Given the description of an element on the screen output the (x, y) to click on. 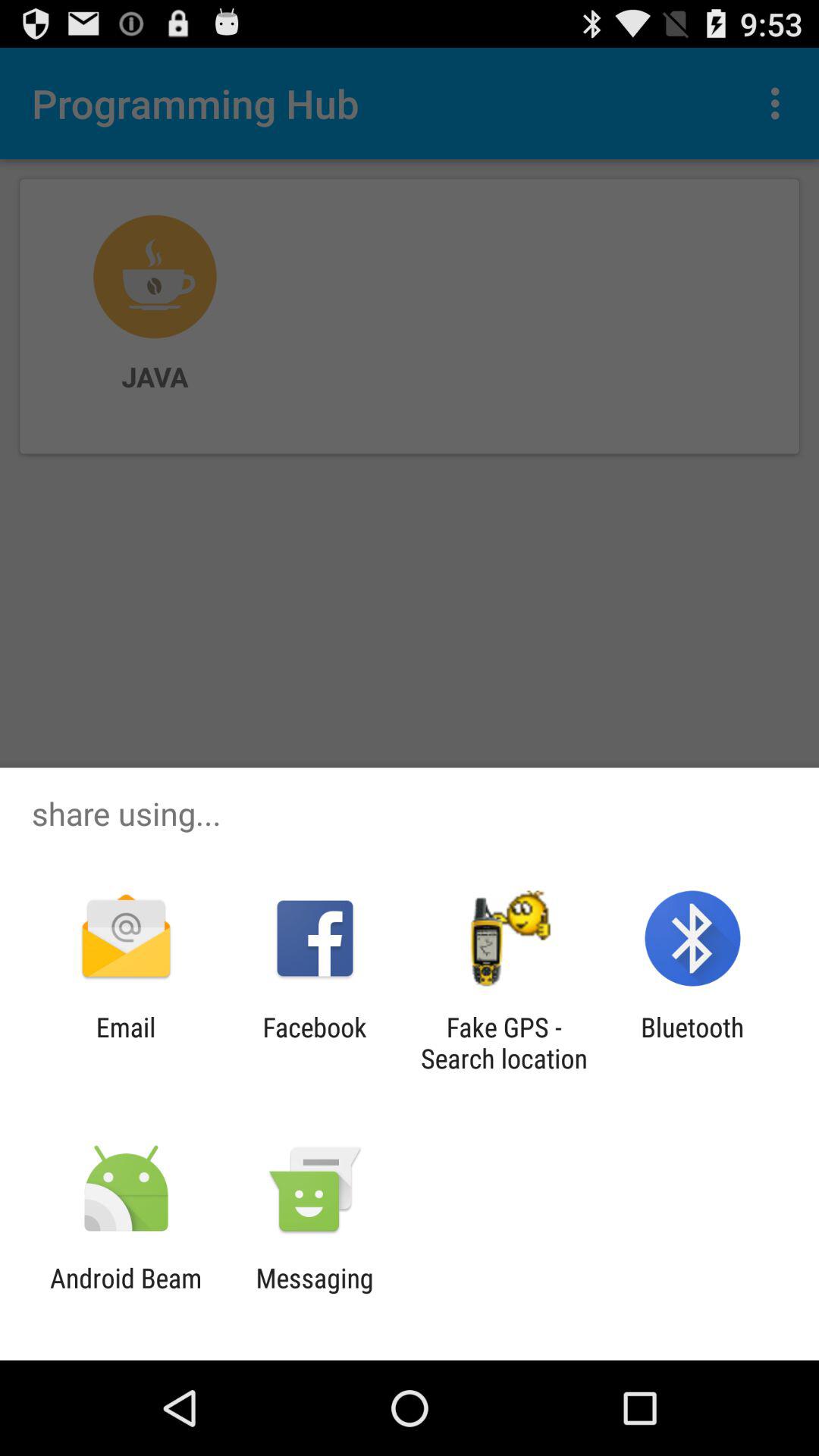
jump to email icon (125, 1042)
